Given the description of an element on the screen output the (x, y) to click on. 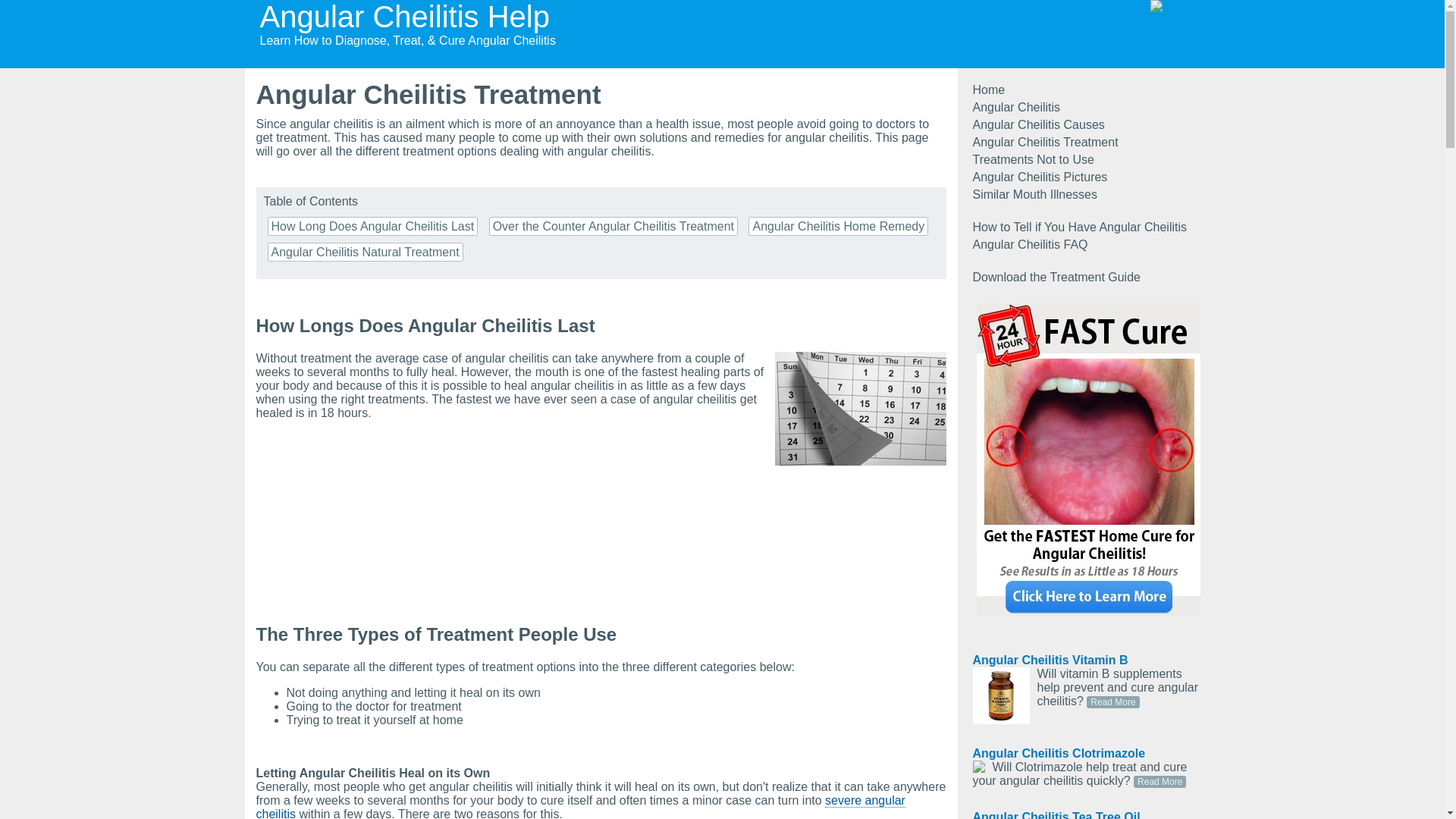
severe angular cheilitis (580, 806)
How Long Does Angular Cheilitis Last (371, 226)
Over the Counter Angular Cheilitis Treatment (613, 226)
Angular Cheilitis Help (403, 16)
Angular Cheilitis Natural Treatment (364, 251)
Angular Cheilitis Home Remedy (838, 226)
